Given the description of an element on the screen output the (x, y) to click on. 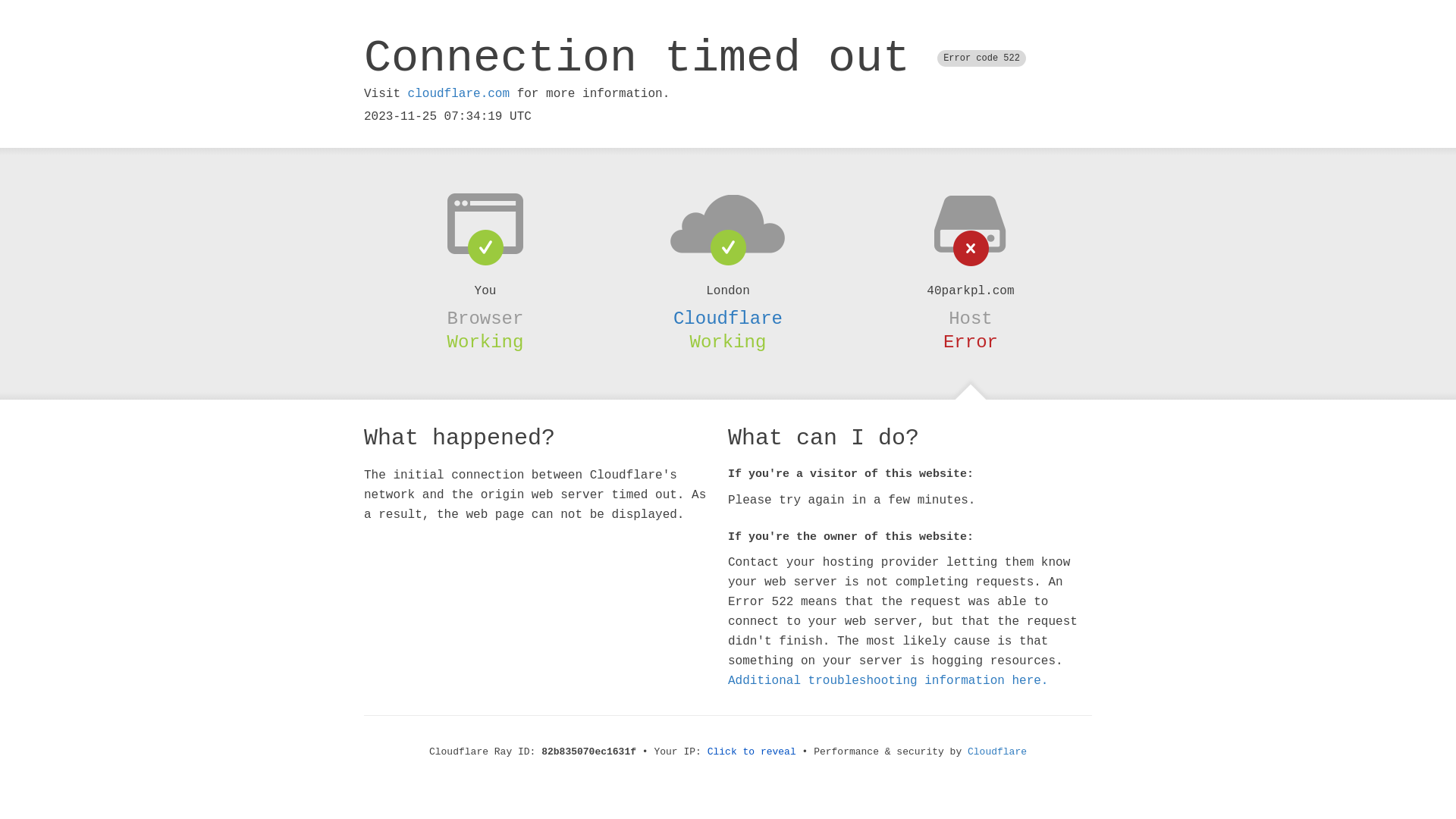
Additional troubleshooting information here. Element type: text (888, 680)
Cloudflare Element type: text (996, 751)
Cloudflare Element type: text (727, 318)
Click to reveal Element type: text (751, 751)
cloudflare.com Element type: text (458, 93)
